Given the description of an element on the screen output the (x, y) to click on. 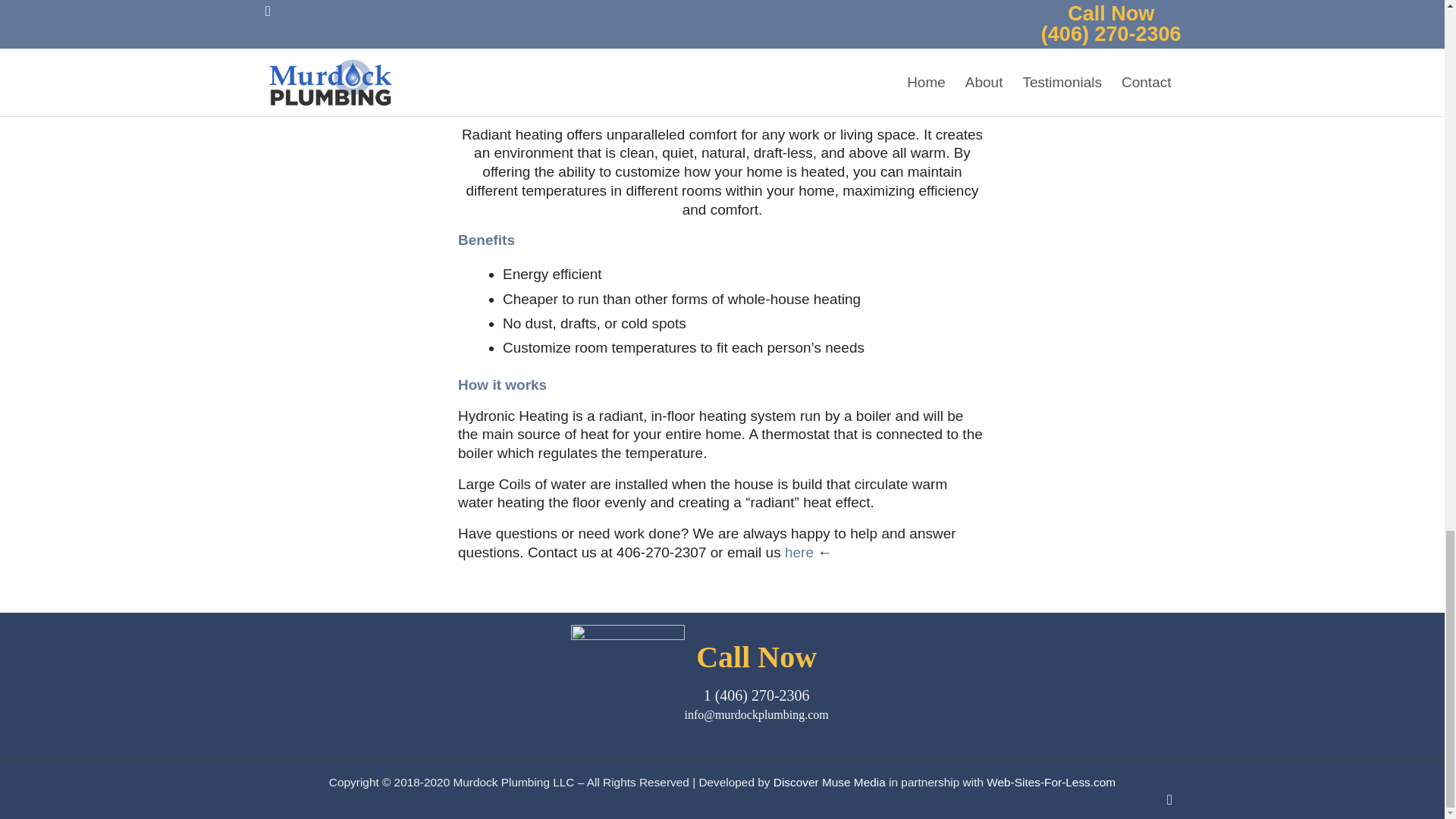
Web-Sites-For-Less.com (1051, 781)
Discover Muse Media (829, 781)
here (798, 552)
Facebook (1169, 799)
